Given the description of an element on the screen output the (x, y) to click on. 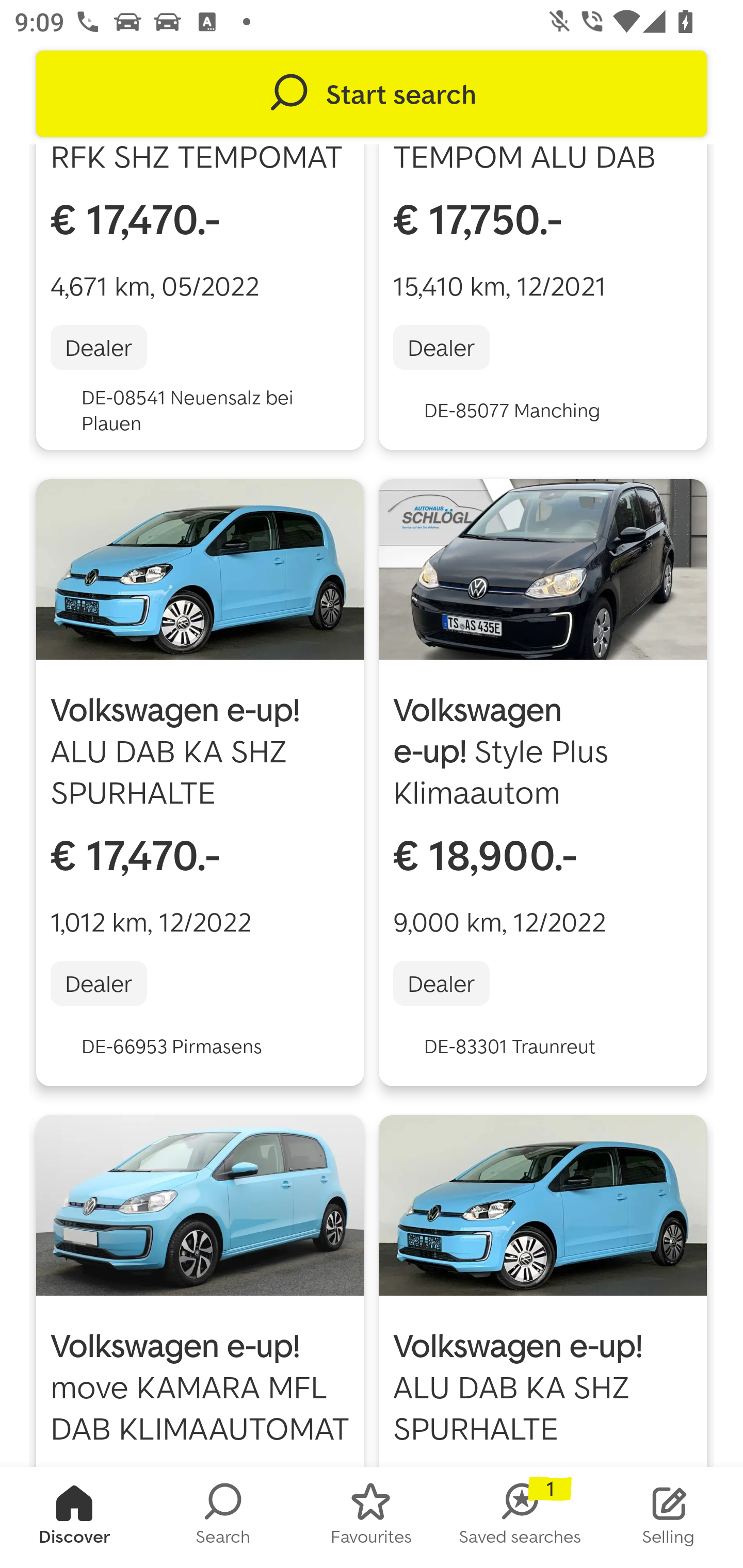
Start search (371, 93)
HOMESCREEN Discover (74, 1517)
SEARCH Search (222, 1517)
FAVORITES Favourites (371, 1517)
SAVED_SEARCHES Saved searches 1 (519, 1517)
STOCK_LIST Selling (668, 1517)
